Given the description of an element on the screen output the (x, y) to click on. 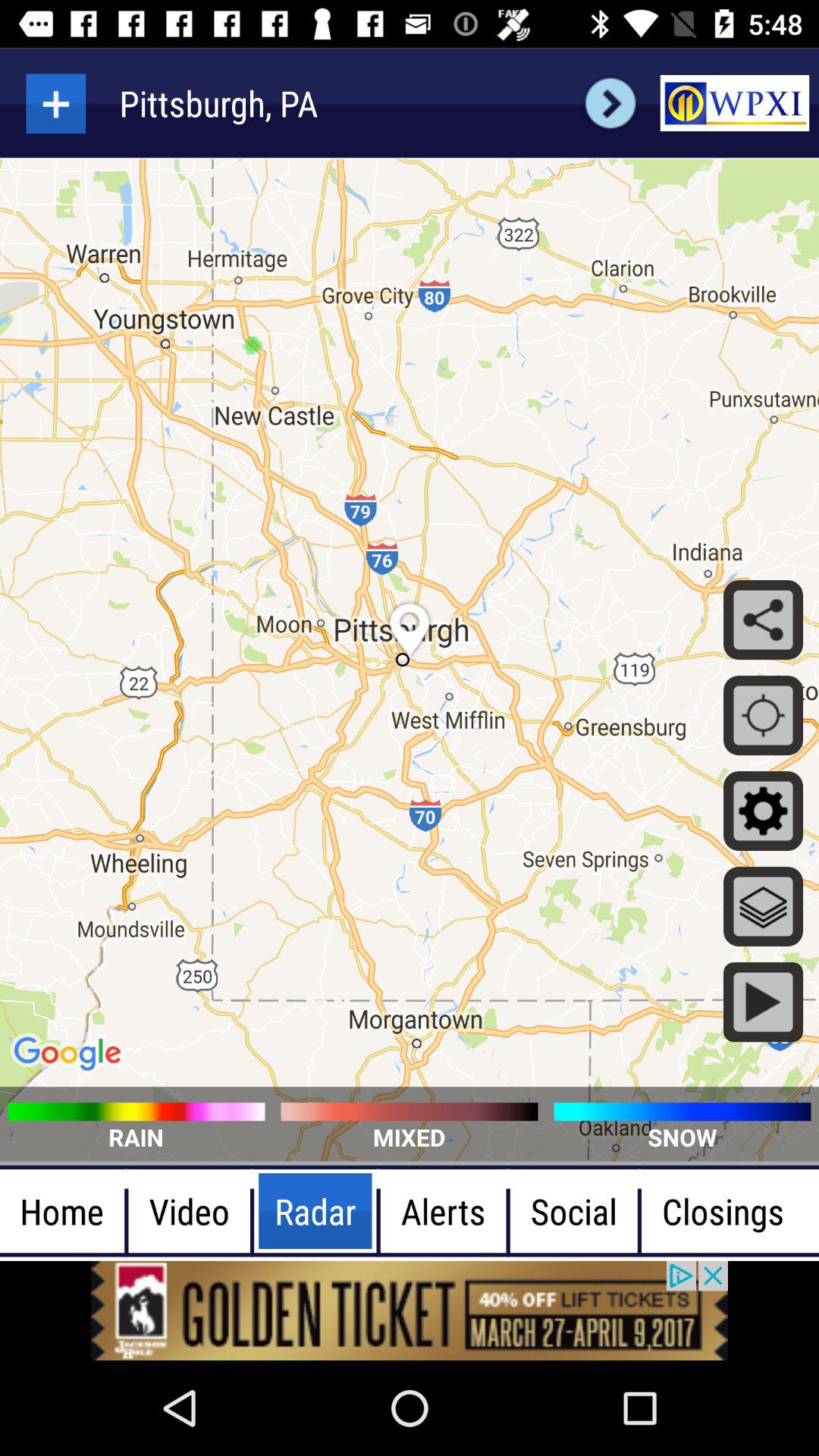
advertisement (409, 1310)
